Given the description of an element on the screen output the (x, y) to click on. 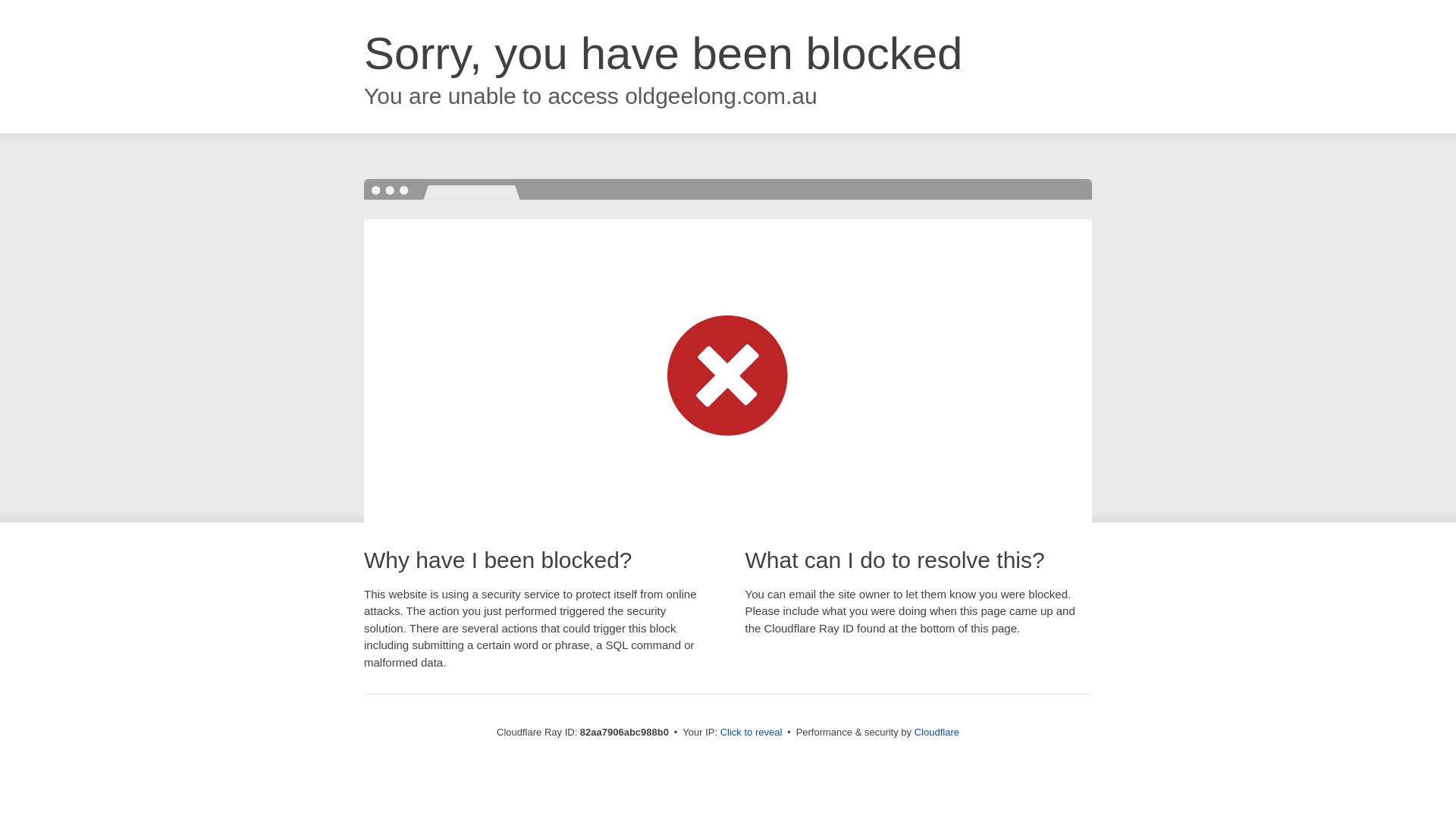
Click to reveal Element type: text (751, 732)
Cloudflare Element type: text (936, 731)
